Given the description of an element on the screen output the (x, y) to click on. 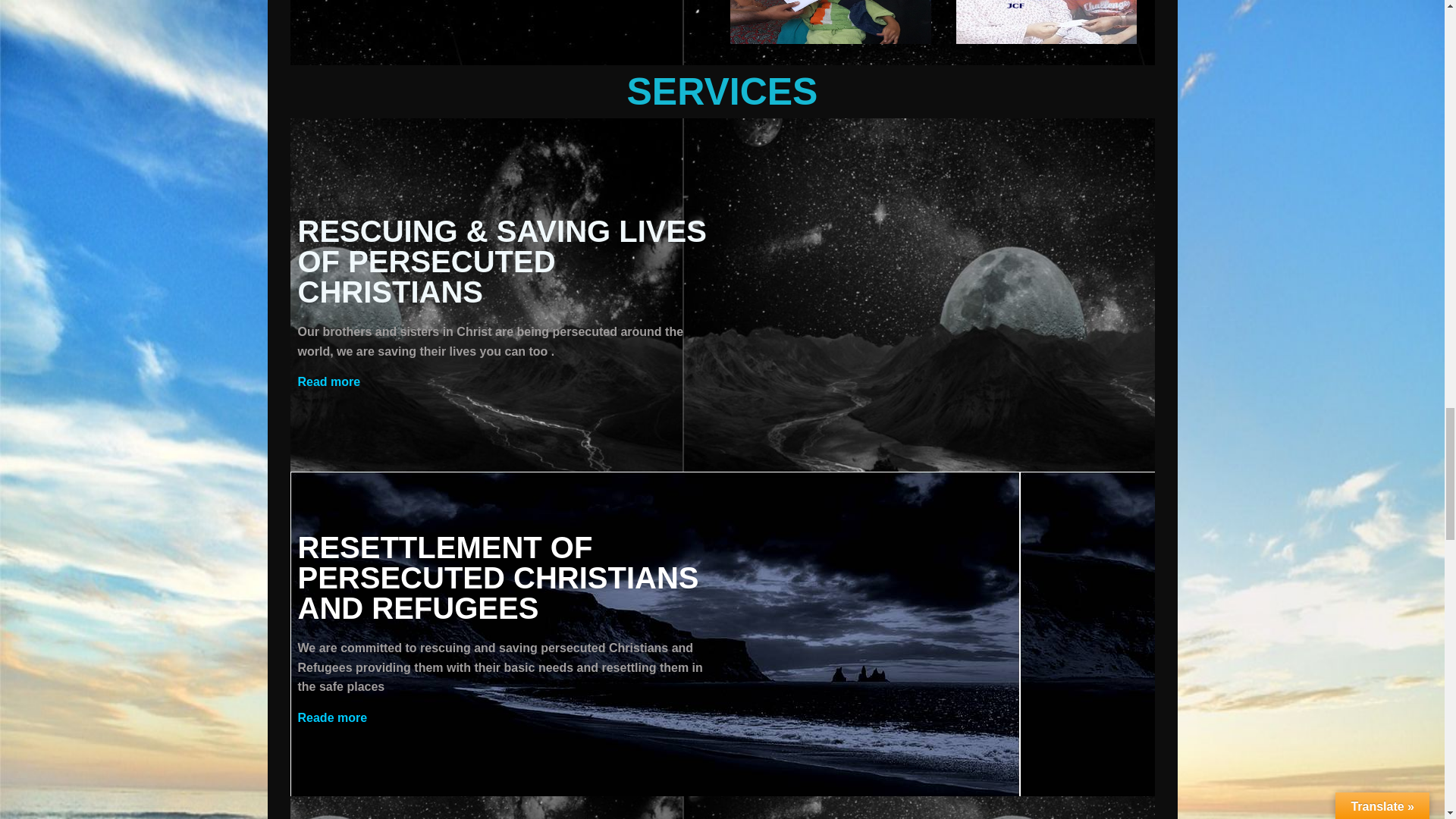
Read more (328, 381)
Reade more (331, 717)
